Given the description of an element on the screen output the (x, y) to click on. 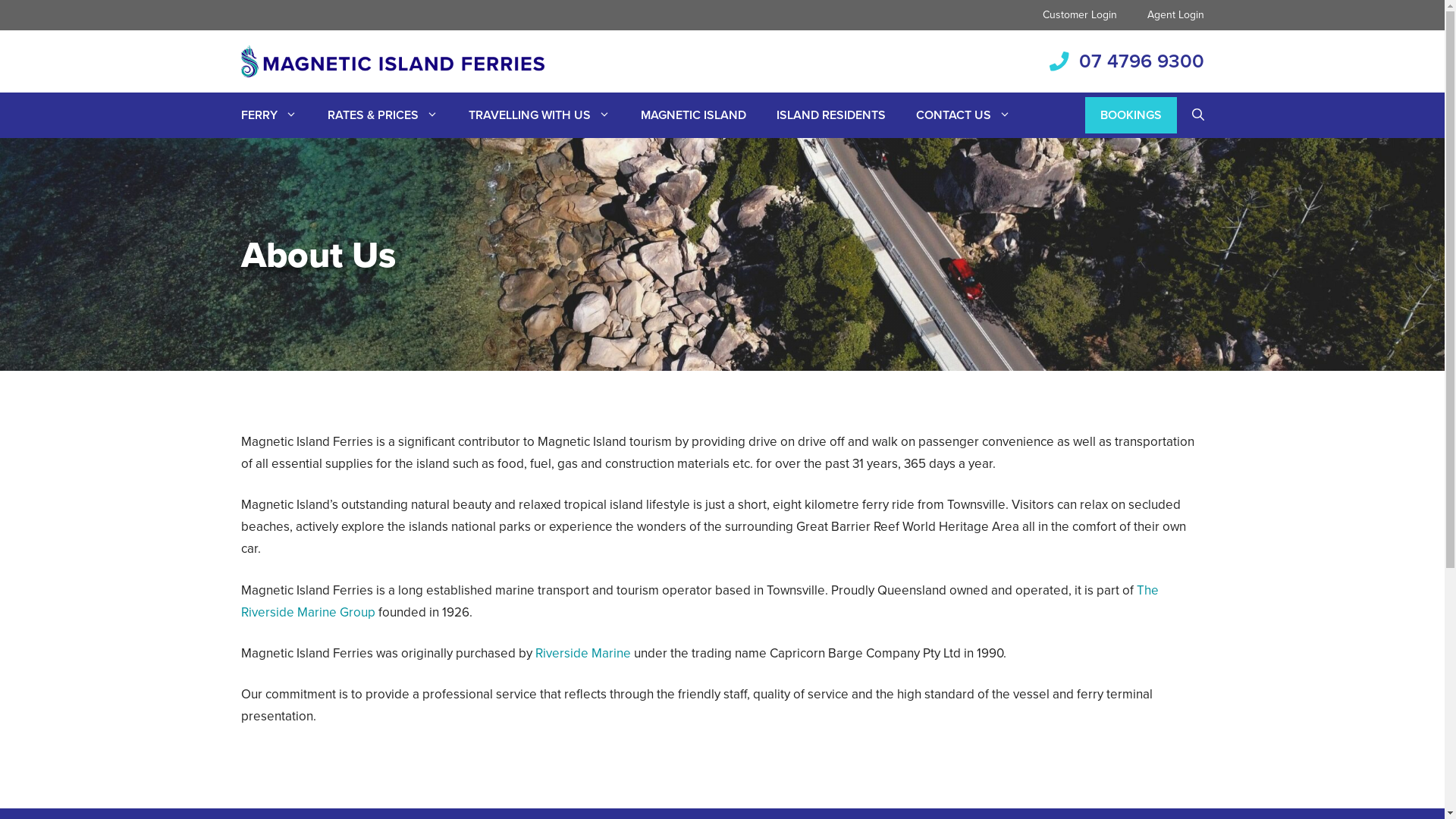
ISLAND RESIDENTS Element type: text (830, 115)
Agent Login Element type: text (1174, 15)
RATES & PRICES Element type: text (382, 115)
BOOKINGS Element type: text (1130, 114)
TRAVELLING WITH US Element type: text (539, 115)
Customer Login Element type: text (1078, 15)
CONTACT US Element type: text (963, 115)
FERRY Element type: text (268, 115)
Riverside Marine Element type: text (582, 652)
07 4796 9300 Element type: text (1140, 60)
MAGNETIC ISLAND Element type: text (692, 115)
The Riverside Marine Group Element type: text (699, 600)
